Given the description of an element on the screen output the (x, y) to click on. 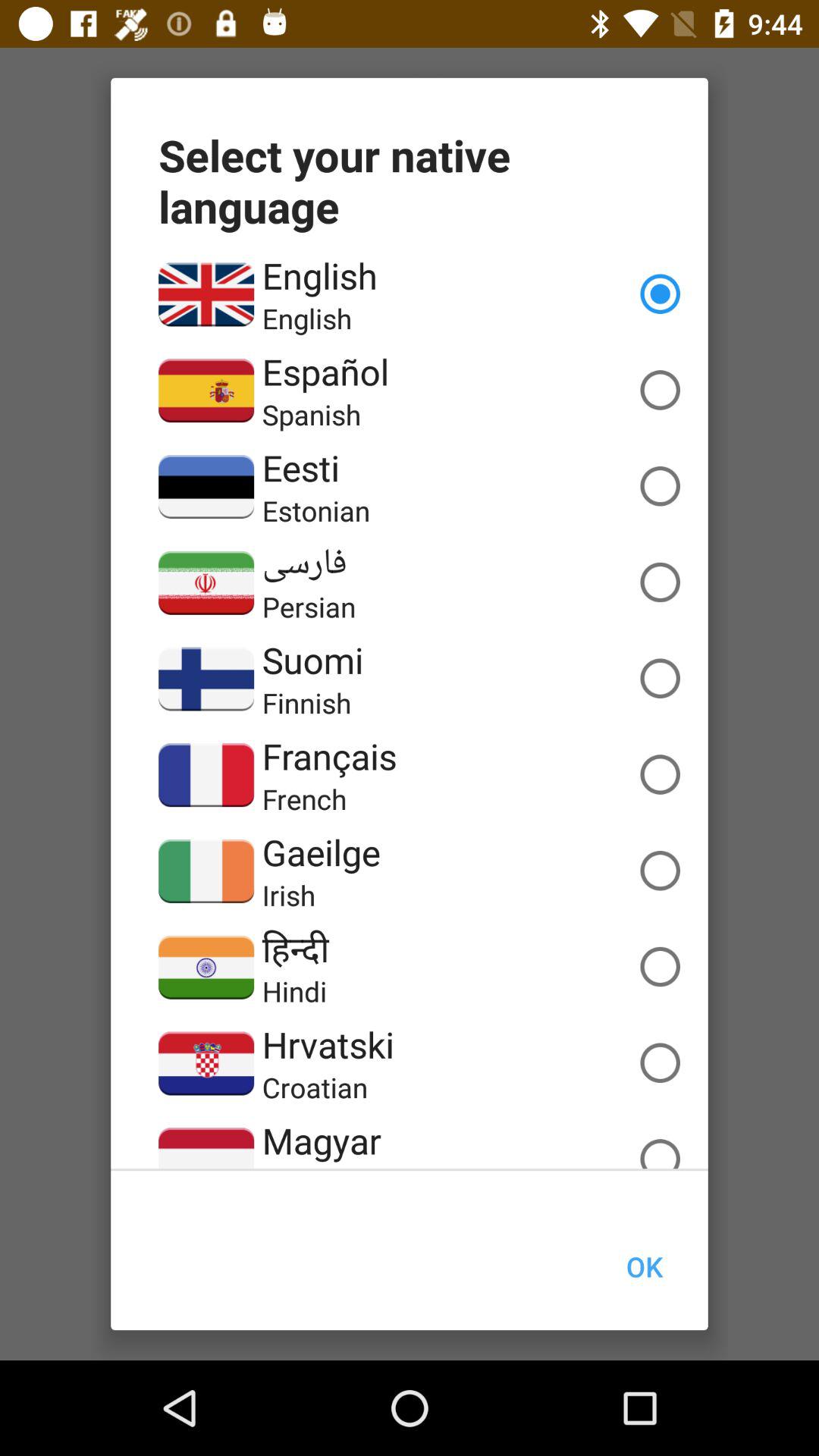
turn on the ok icon (644, 1266)
